Given the description of an element on the screen output the (x, y) to click on. 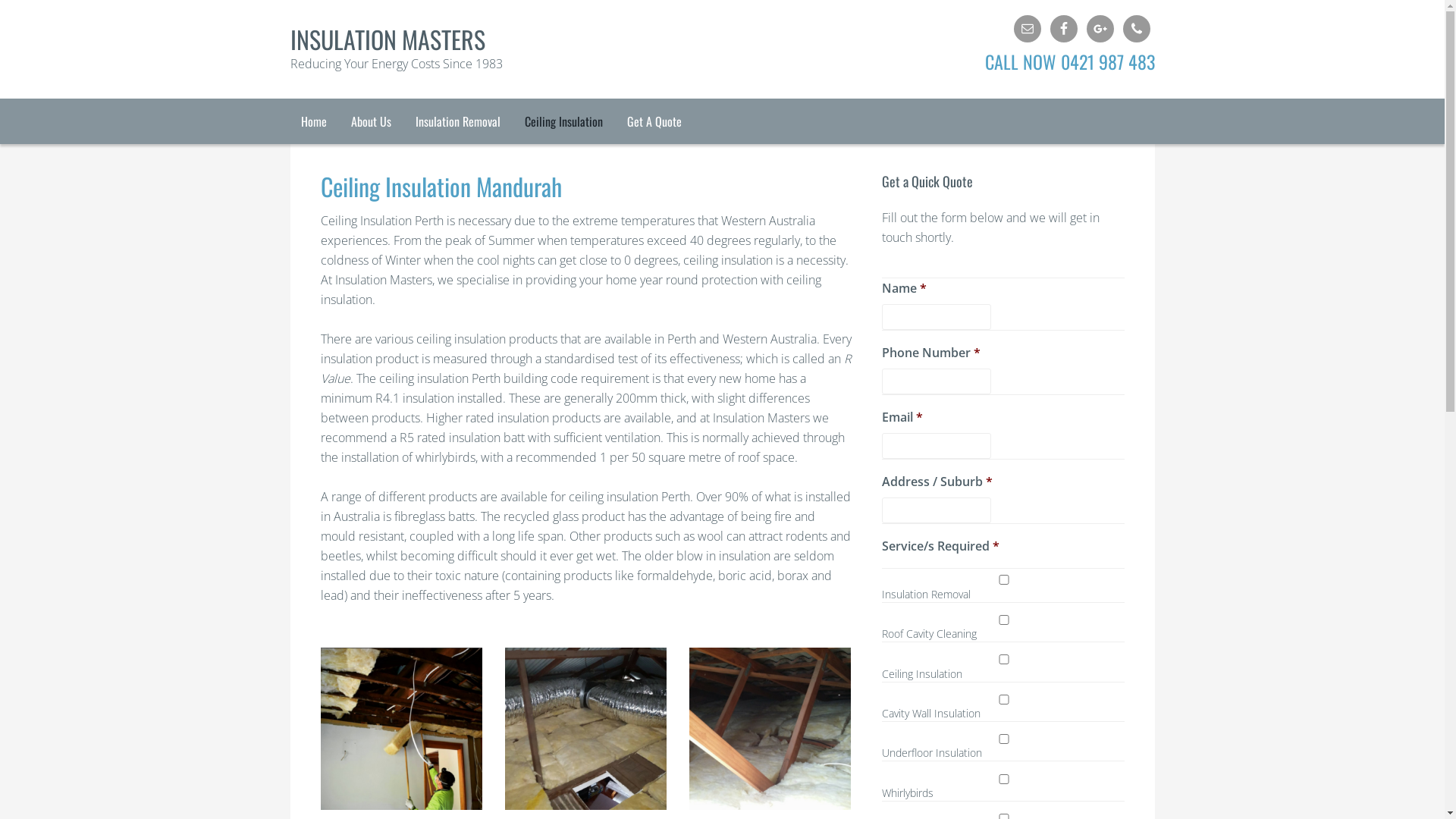
Insulation Removal Element type: text (457, 121)
Get A Quote Element type: text (653, 121)
INSULATION MASTERS Element type: text (386, 38)
1 Element type: hover (400, 728)
Home Element type: text (312, 121)
CALL NOW 0421 987 483 Element type: text (850, 61)
2 Element type: hover (585, 728)
About Us Element type: text (370, 121)
Ceiling Insulation Element type: text (563, 121)
